Given the description of an element on the screen output the (x, y) to click on. 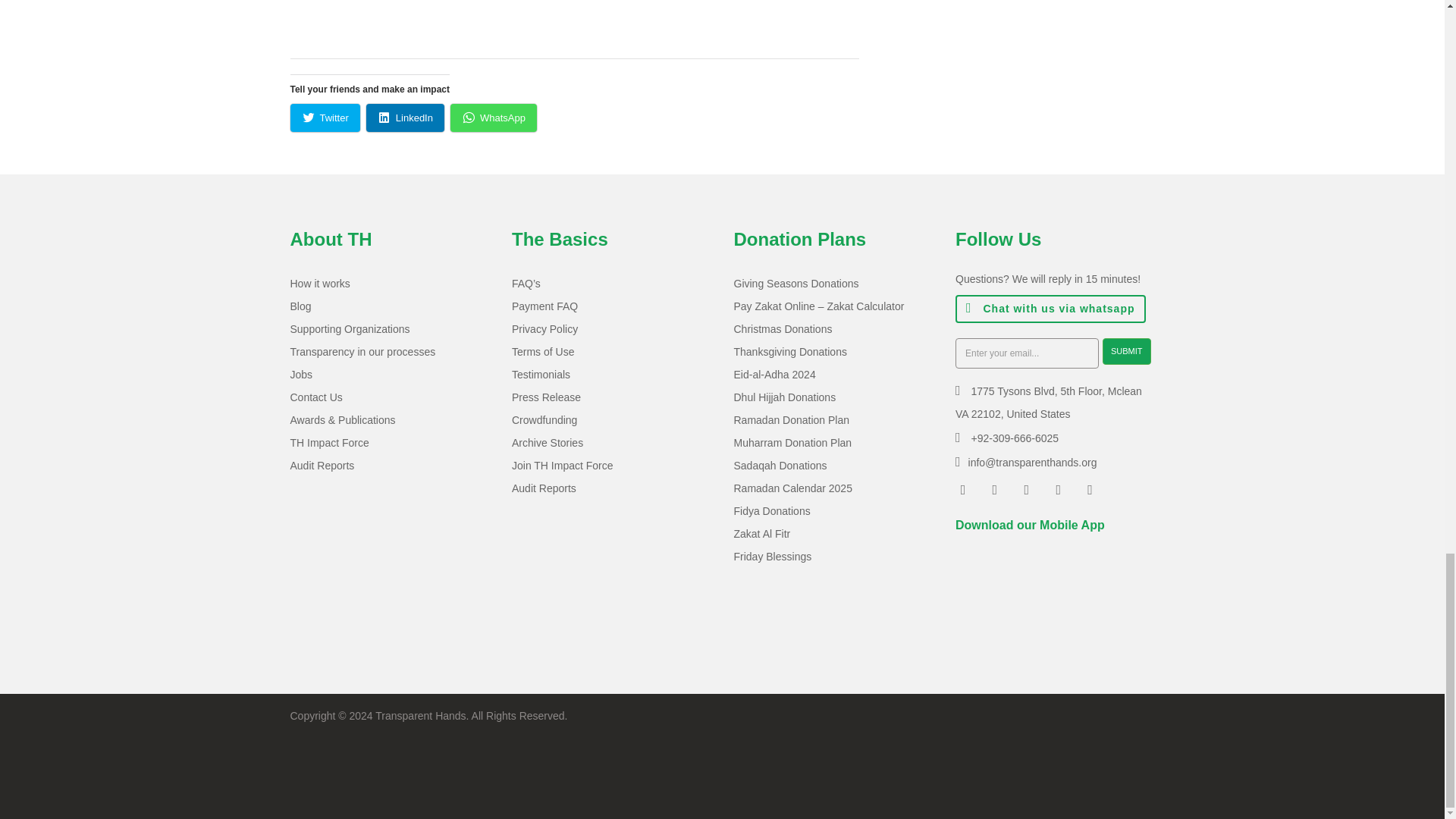
WhatsApp (493, 117)
LinkedIn (405, 117)
Twitter (324, 117)
